Given the description of an element on the screen output the (x, y) to click on. 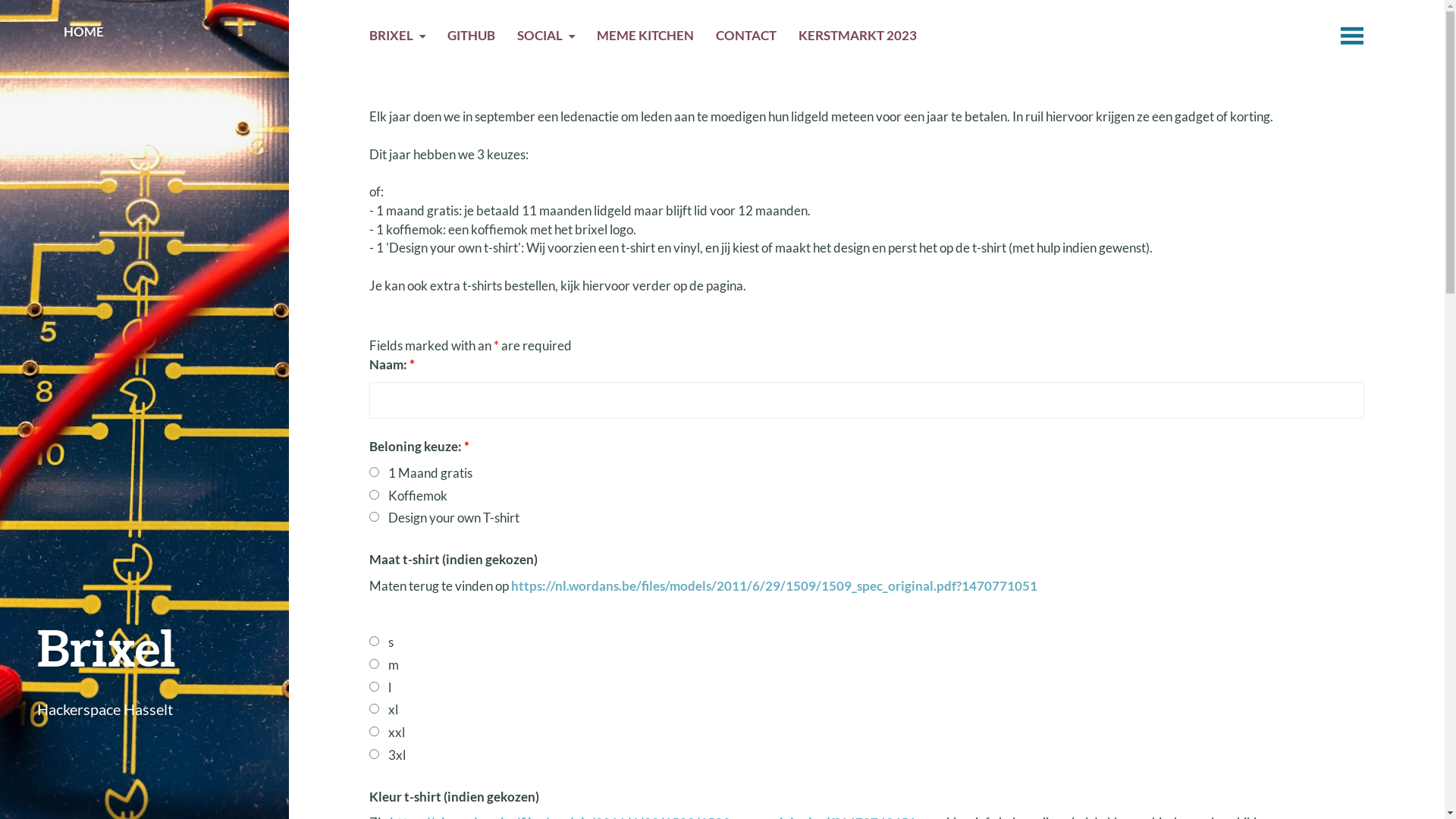
CONTACT Element type: text (745, 37)
HOME Element type: text (83, 33)
Brixel Element type: text (106, 647)
MEME KITCHEN Element type: text (644, 37)
GITHUB Element type: text (471, 37)
KERSTMARKT 2023 Element type: text (857, 37)
SOCIAL Element type: text (546, 37)
BRIXEL Element type: text (397, 37)
